Given the description of an element on the screen output the (x, y) to click on. 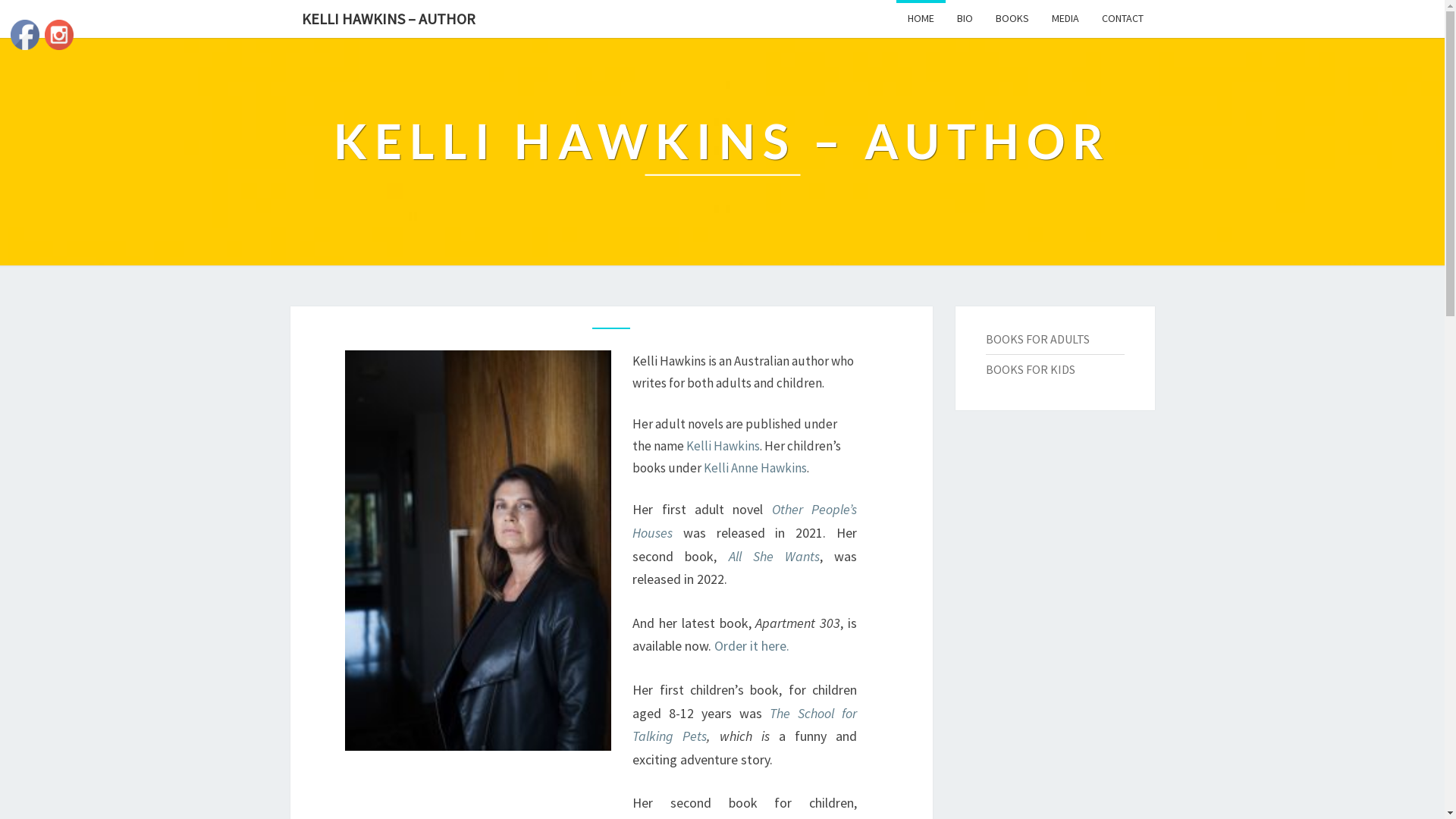
BOOKS FOR KIDS Element type: text (1030, 368)
BIO Element type: text (963, 18)
Order it here. Element type: text (751, 645)
All She Wants Element type: text (773, 555)
Kelli Anne Hawkins Element type: text (754, 467)
CONTACT Element type: text (1122, 18)
The School for Talking Pets Element type: text (744, 724)
MEDIA Element type: text (1065, 18)
BOOKS FOR ADULTS Element type: text (1037, 338)
BOOKS Element type: text (1012, 18)
HOME Element type: text (920, 18)
Instagram Element type: hover (58, 34)
Kelli Hawkins Element type: text (722, 445)
